Given the description of an element on the screen output the (x, y) to click on. 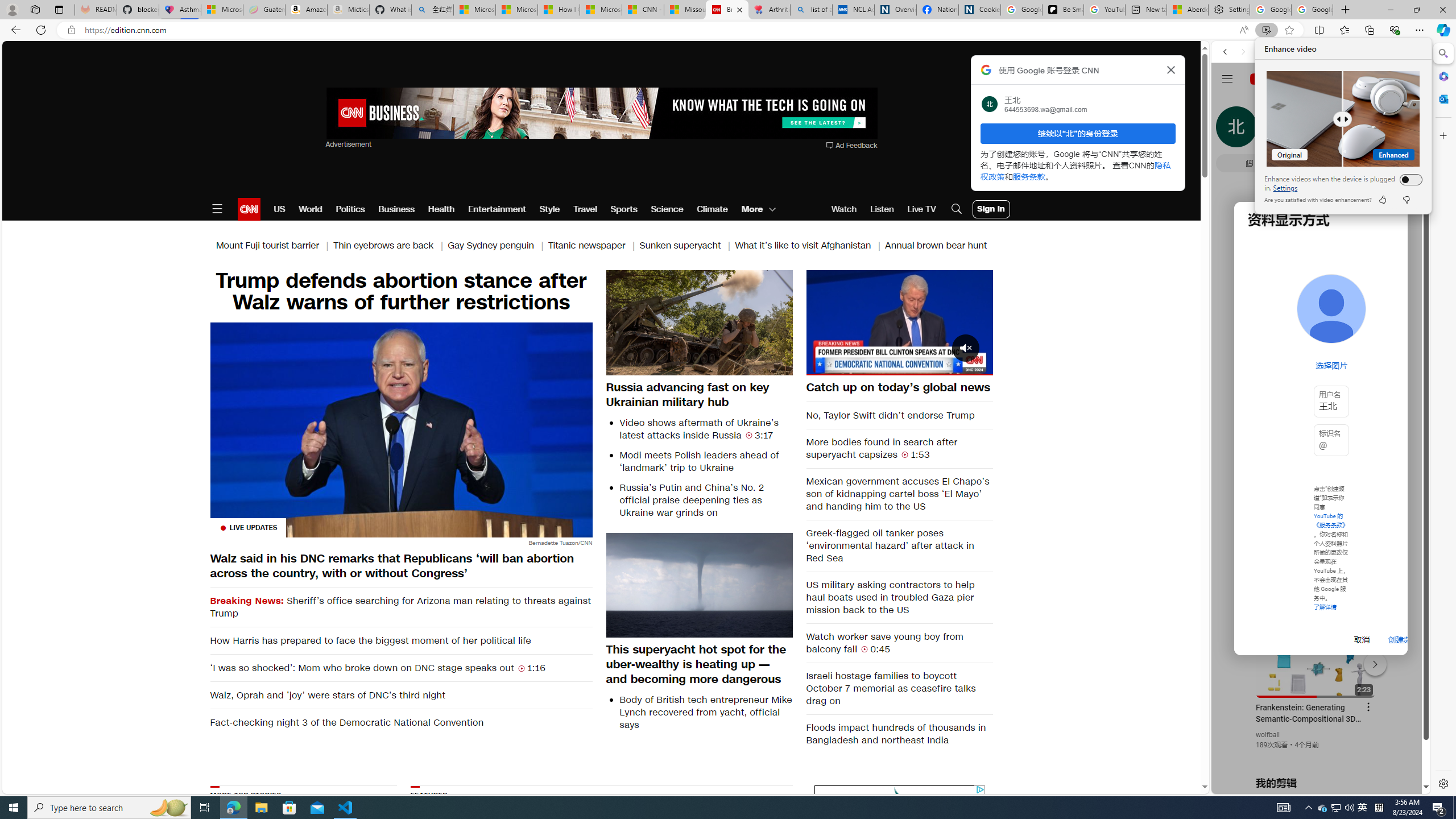
Show desktop (1454, 807)
Annual brown bear hunt (936, 245)
Google (1320, 281)
Breaking News, Latest News and Videos | CNN (726, 9)
Aberdeen, Hong Kong SAR hourly forecast | Microsoft Weather (1186, 9)
Captions Unavailable (927, 365)
